Given the description of an element on the screen output the (x, y) to click on. 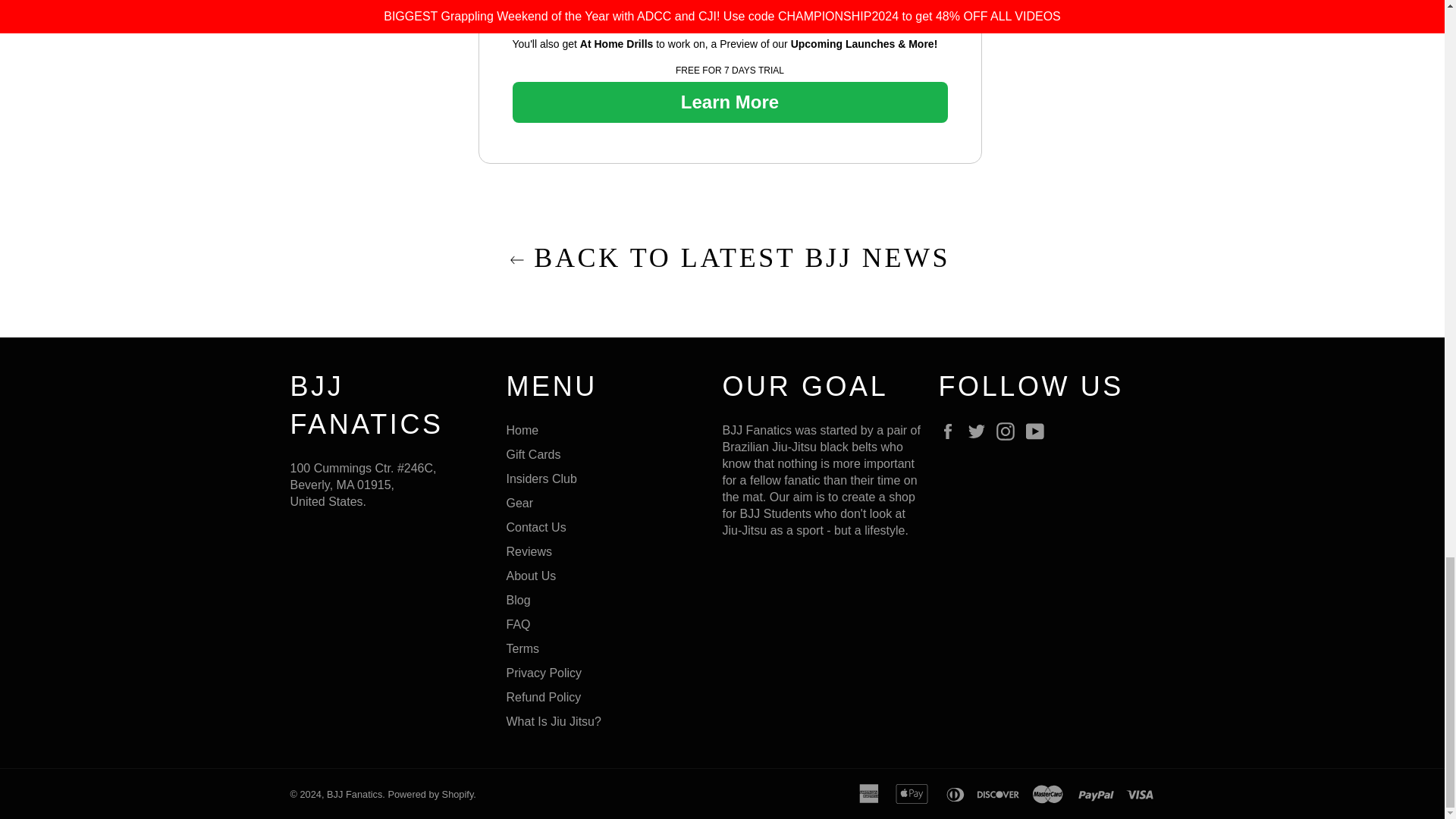
BJJ Fanatics on Instagram (1008, 431)
BJJ Fanatics on Facebook (951, 431)
BJJ Fanatics on YouTube (1038, 431)
BJJ Fanatics on Twitter (980, 431)
